Given the description of an element on the screen output the (x, y) to click on. 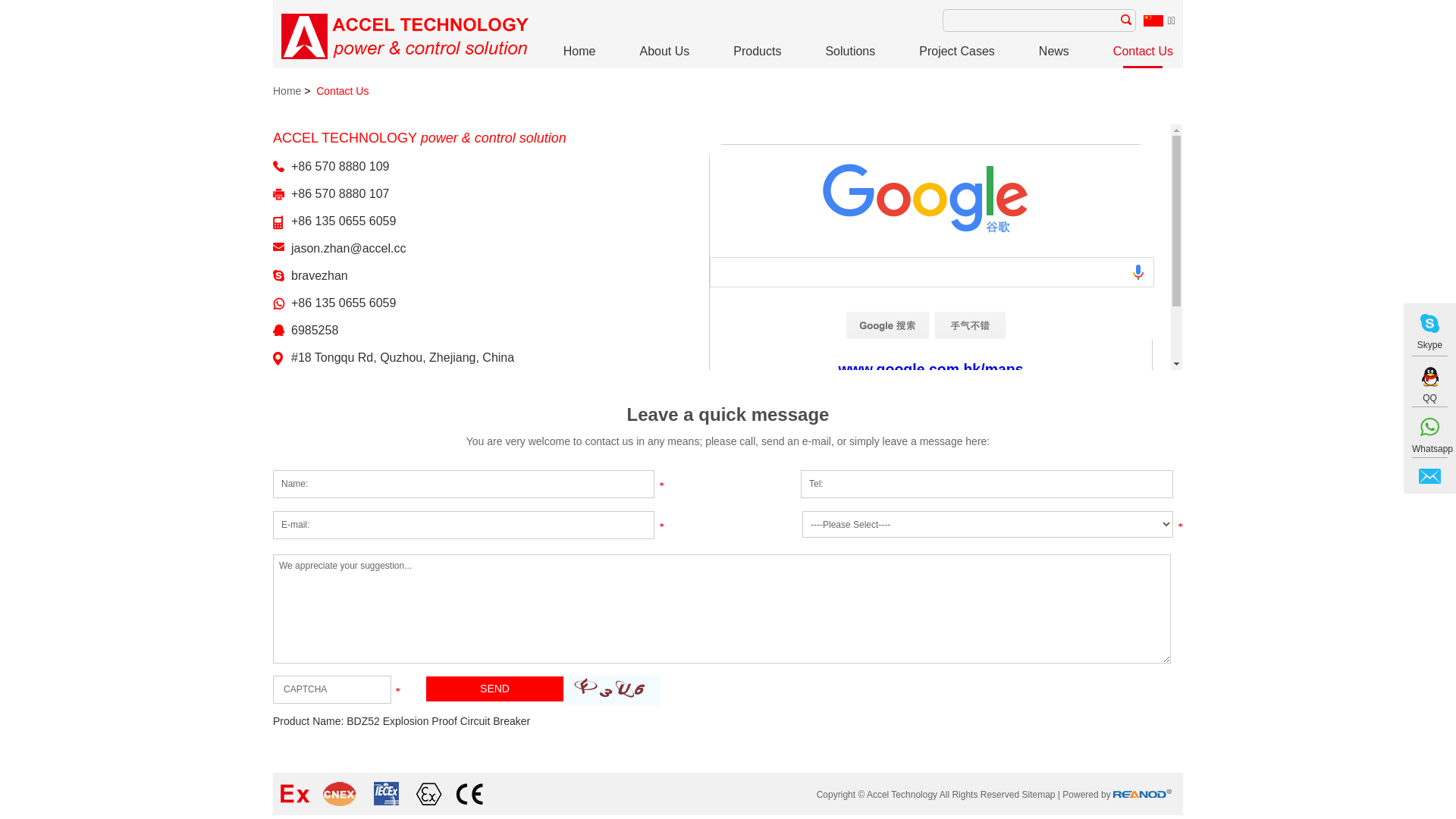
About Us Element type: text (664, 56)
jason.zhan@accel.cc Element type: text (348, 247)
Contact Us Element type: text (1142, 56)
Products Element type: text (757, 56)
Solutions Element type: text (849, 56)
News Element type: text (1053, 56)
Contact Us Element type: text (342, 90)
6985258 Element type: text (314, 329)
Home Element type: text (287, 90)
Sitemap Element type: text (1037, 794)
Home Element type: text (579, 56)
Accel Technology Element type: hover (404, 36)
SEND Element type: text (494, 688)
+86 135 0655 6059 Element type: text (343, 302)
QQ Element type: text (1429, 386)
bravezhan Element type: text (319, 275)
Skype Element type: text (1429, 333)
Project Cases Element type: text (956, 56)
Whatsapp Element type: text (1429, 437)
